Given the description of an element on the screen output the (x, y) to click on. 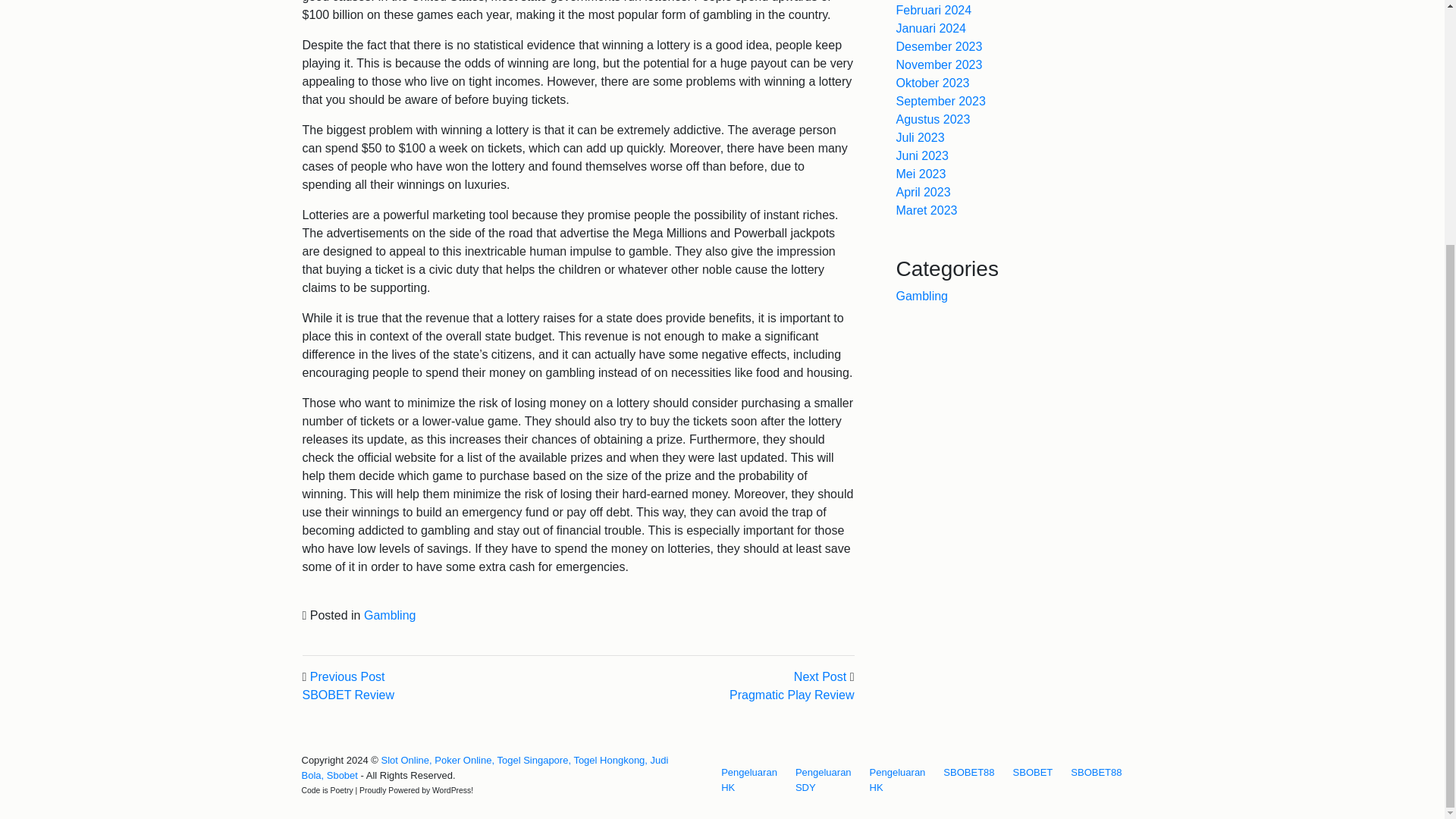
Gambling (389, 615)
Maret 2023 (927, 210)
SBOBET Review (347, 694)
SBOBET88 (968, 772)
November 2023 (939, 64)
SBOBET (1033, 772)
Oktober 2023 (932, 82)
Januari 2024 (931, 28)
Pengeluaran HK (748, 779)
SBOBET88 (1095, 772)
